Given the description of an element on the screen output the (x, y) to click on. 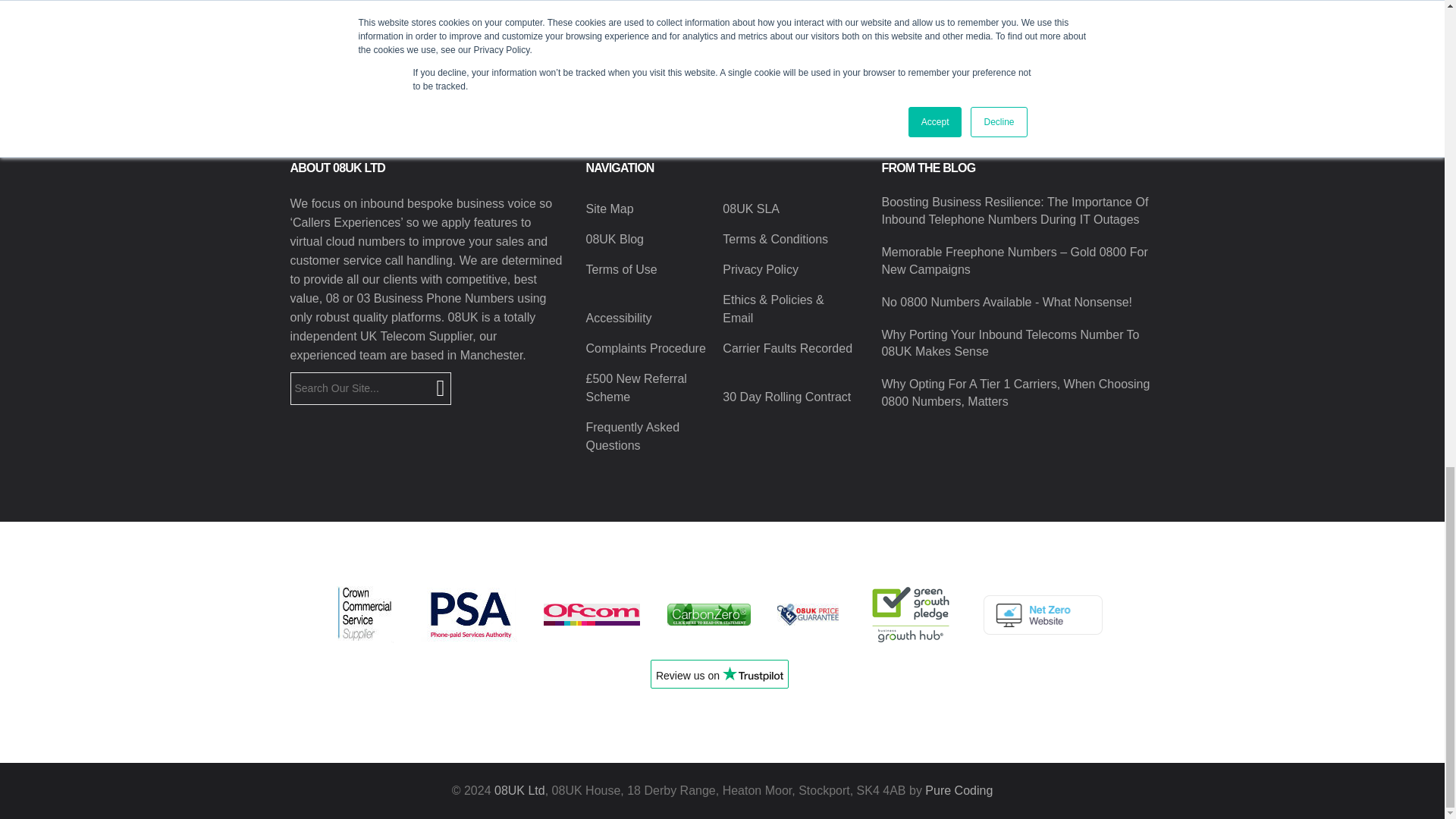
ofcom (591, 614)
Green Growth Pledge (910, 614)
psauthority (468, 614)
08UK GREEN POLICY, RECYCLING AND CARBON FOOTPRINT (708, 614)
PRICE MATCH GUARANTEE 08UK (807, 614)
08UK (519, 789)
Search Our Site With A Keyword: (369, 388)
Customer reviews powered by Trustpilot (718, 679)
